Given the description of an element on the screen output the (x, y) to click on. 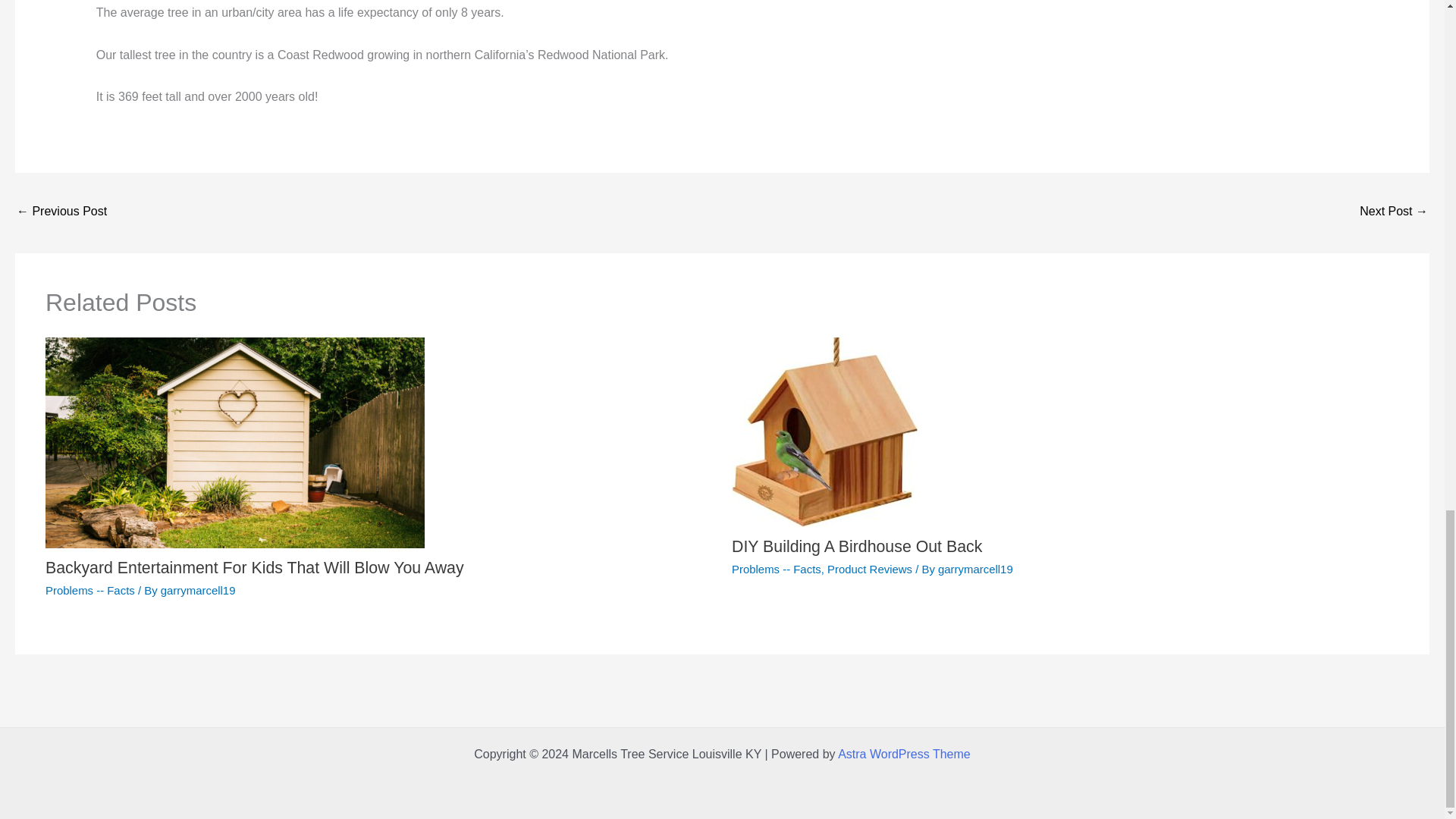
View all posts by garrymarcell19 (197, 590)
Create An Outdoor Fire Pit In Your Backyard (1393, 212)
View all posts by garrymarcell19 (975, 568)
